Given the description of an element on the screen output the (x, y) to click on. 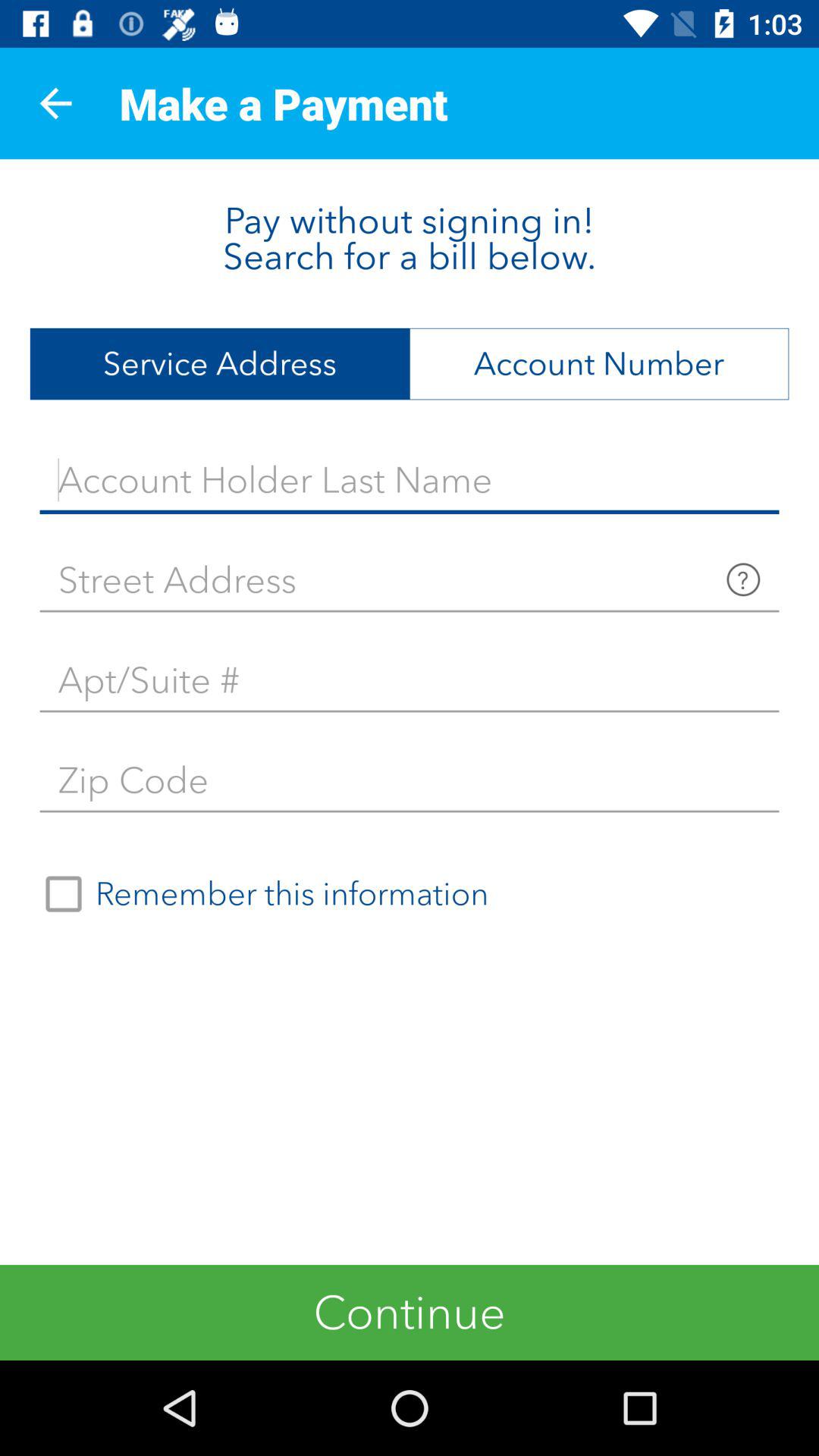
turn off the continue item (409, 1312)
